Given the description of an element on the screen output the (x, y) to click on. 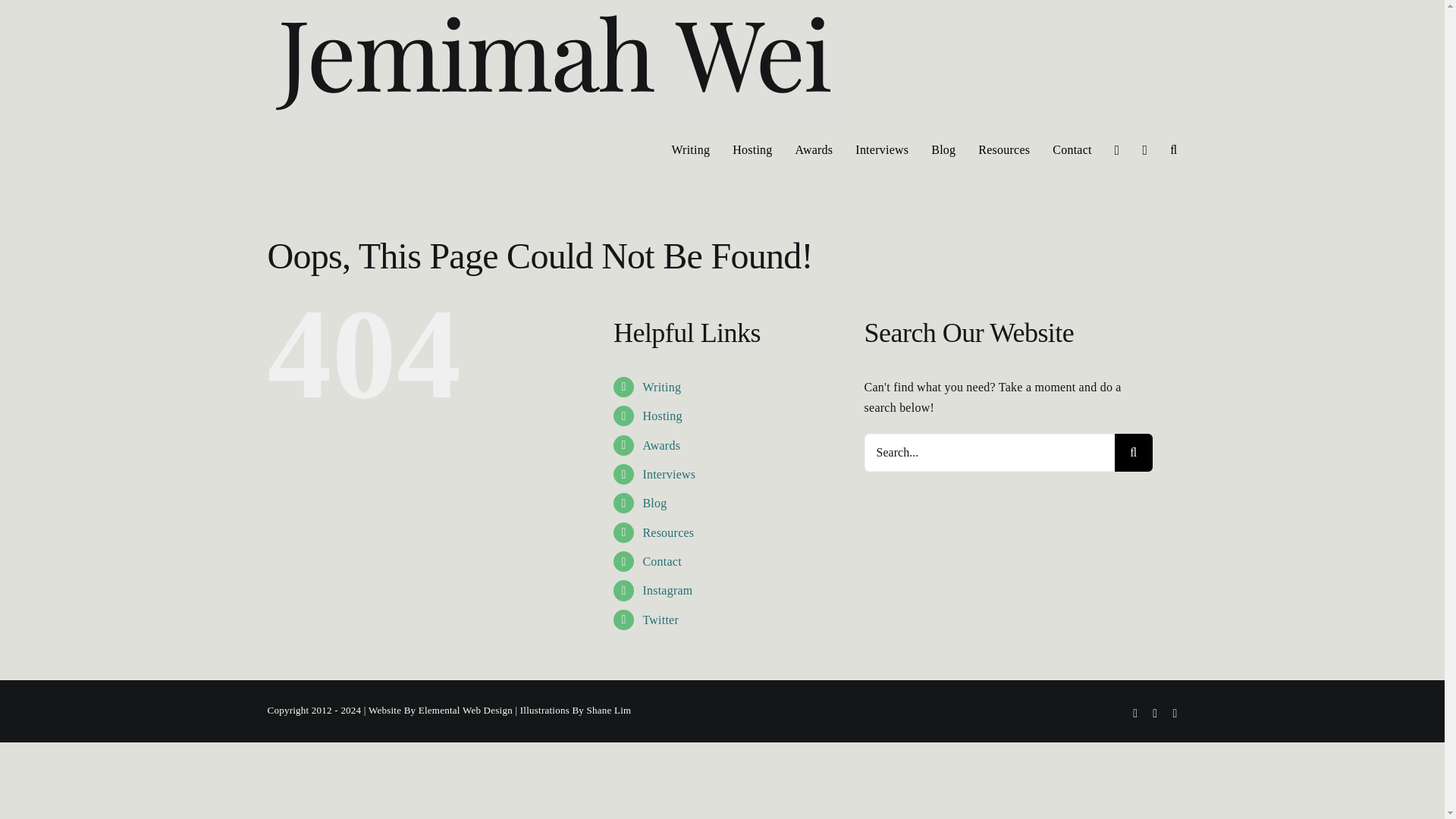
Blog (654, 502)
Read my blog (654, 502)
Instagram (667, 590)
Blog (943, 149)
Awards (813, 149)
My appearances (751, 149)
My Interviews (668, 473)
Get in contact with me (1071, 149)
Resources (668, 532)
Contact (661, 561)
My writing (690, 149)
Interviews (882, 149)
Writing (661, 386)
Twitter (660, 619)
Get in contact with me (661, 561)
